Given the description of an element on the screen output the (x, y) to click on. 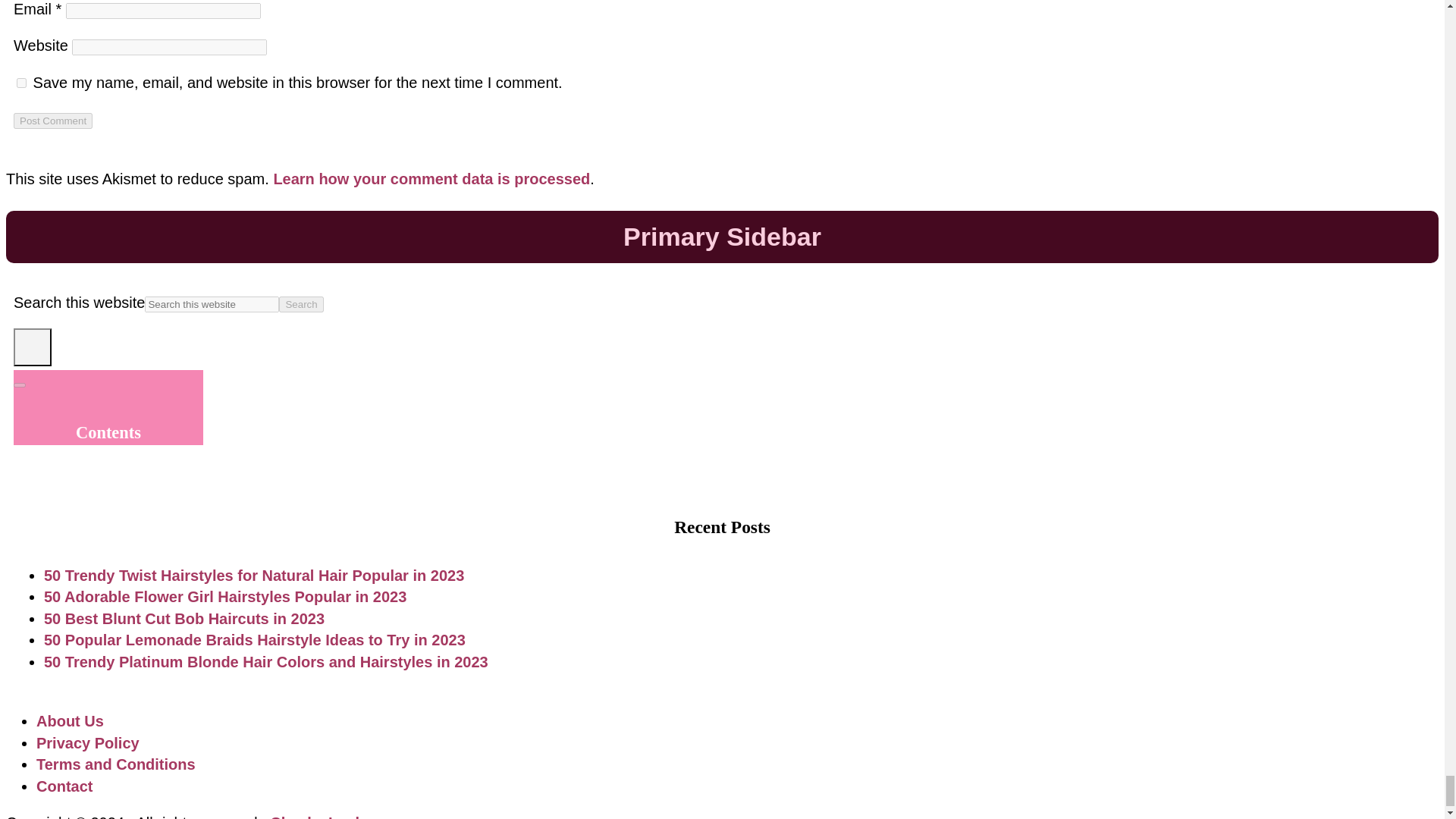
click To Maximize The Table Of Contents (31, 347)
Search (301, 304)
Search (301, 304)
yes (21, 82)
Post Comment (53, 120)
